Given the description of an element on the screen output the (x, y) to click on. 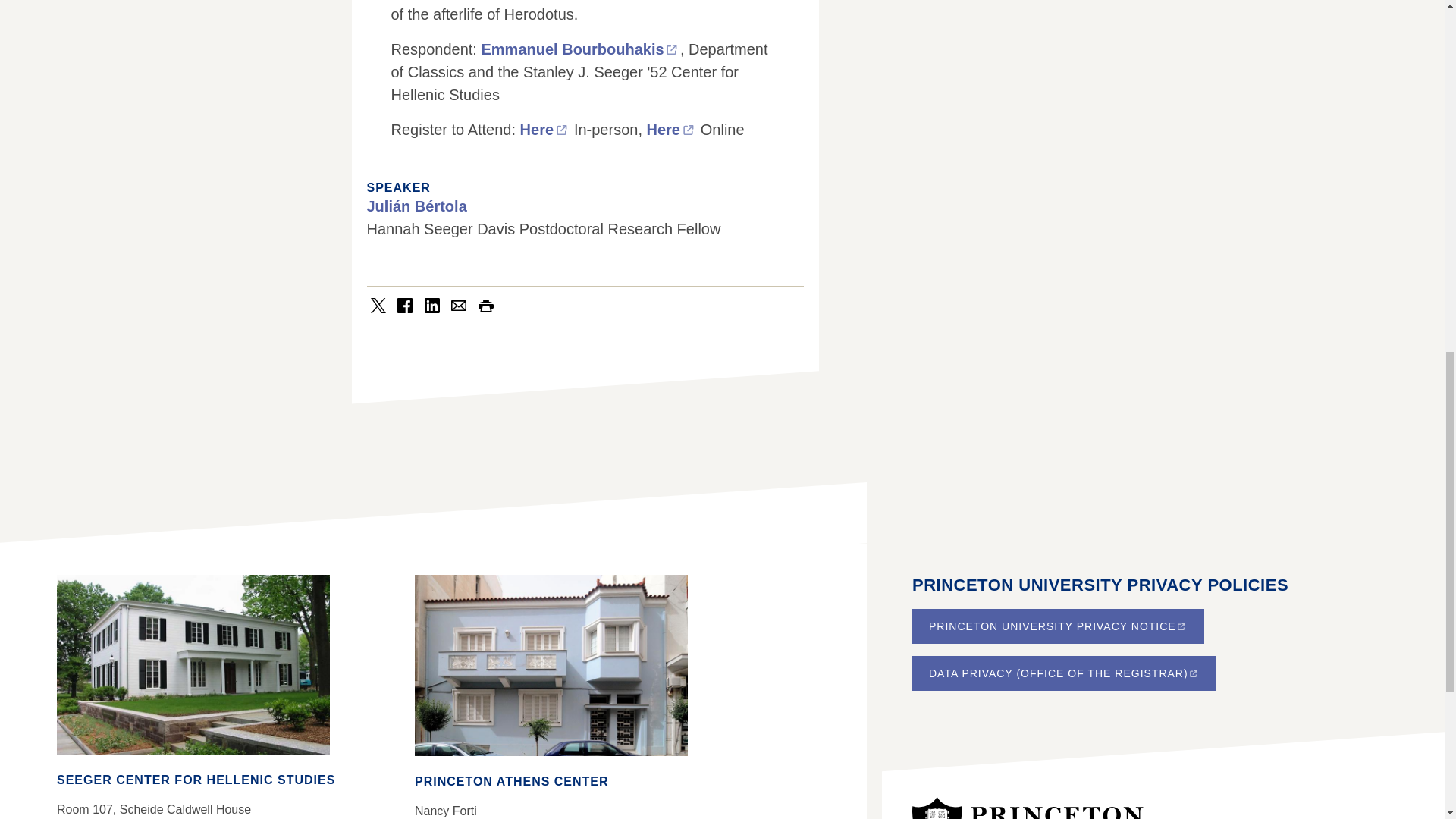
Link is external (1181, 626)
Link is external (1192, 673)
Link is external (688, 130)
Link is external (561, 130)
Link is external (671, 49)
